Given the description of an element on the screen output the (x, y) to click on. 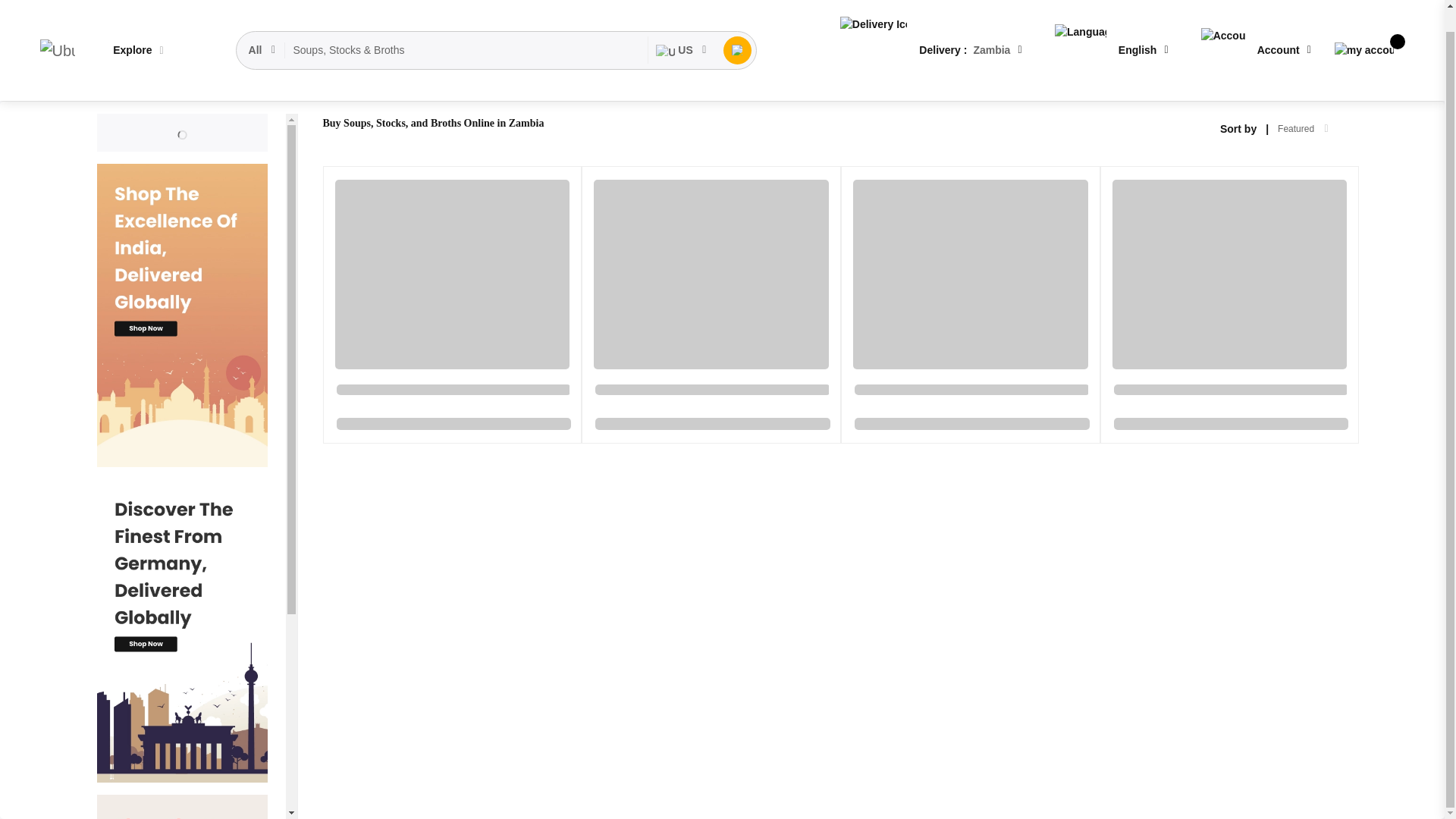
Cart (1364, 27)
Ubuy (57, 28)
Home Page (124, 89)
Home Page (124, 89)
All (263, 28)
US (680, 28)
